Given the description of an element on the screen output the (x, y) to click on. 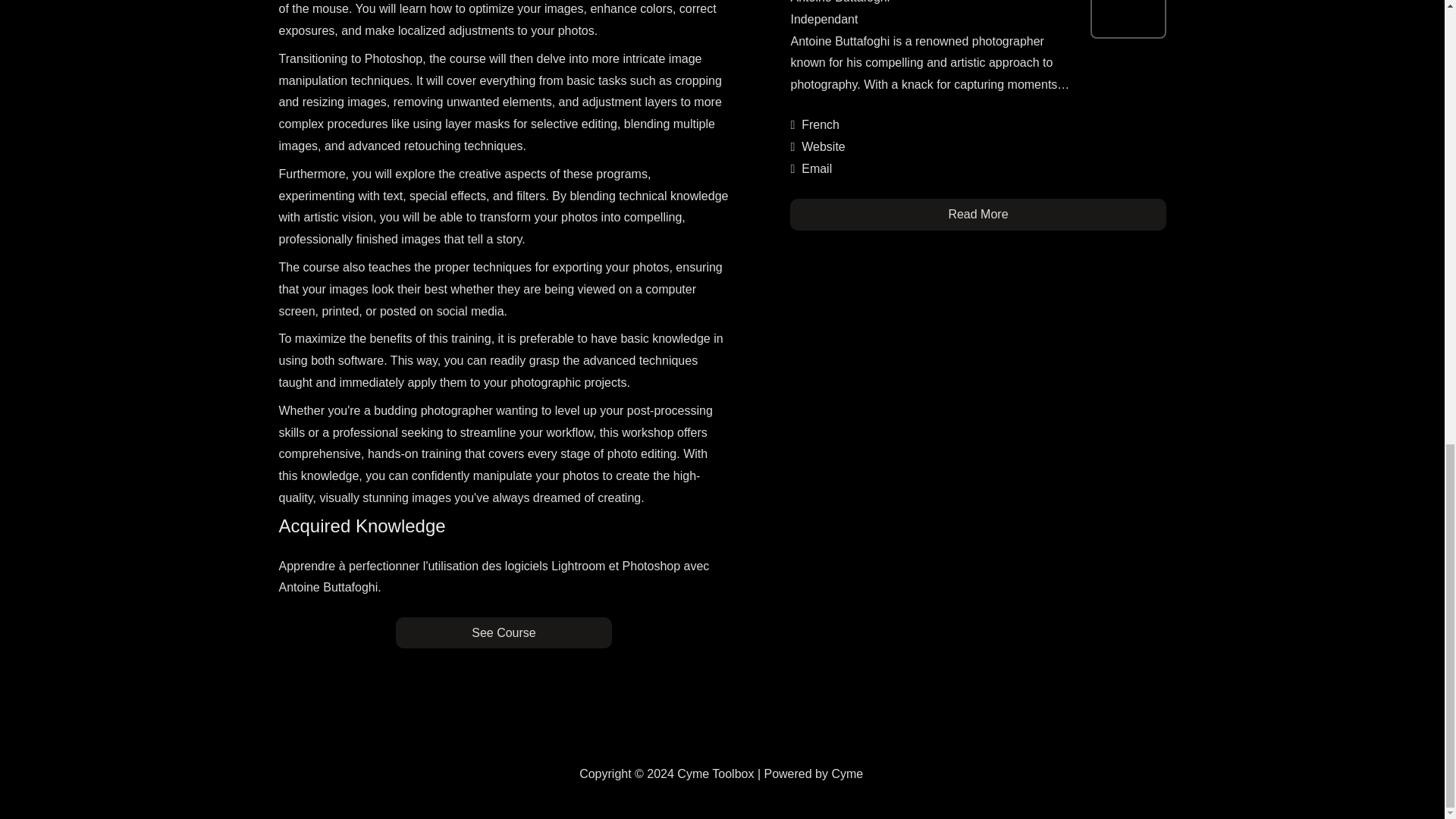
See Course (503, 632)
Email (816, 168)
Website (823, 146)
Read More (978, 214)
Email (816, 168)
Website (823, 146)
